Given the description of an element on the screen output the (x, y) to click on. 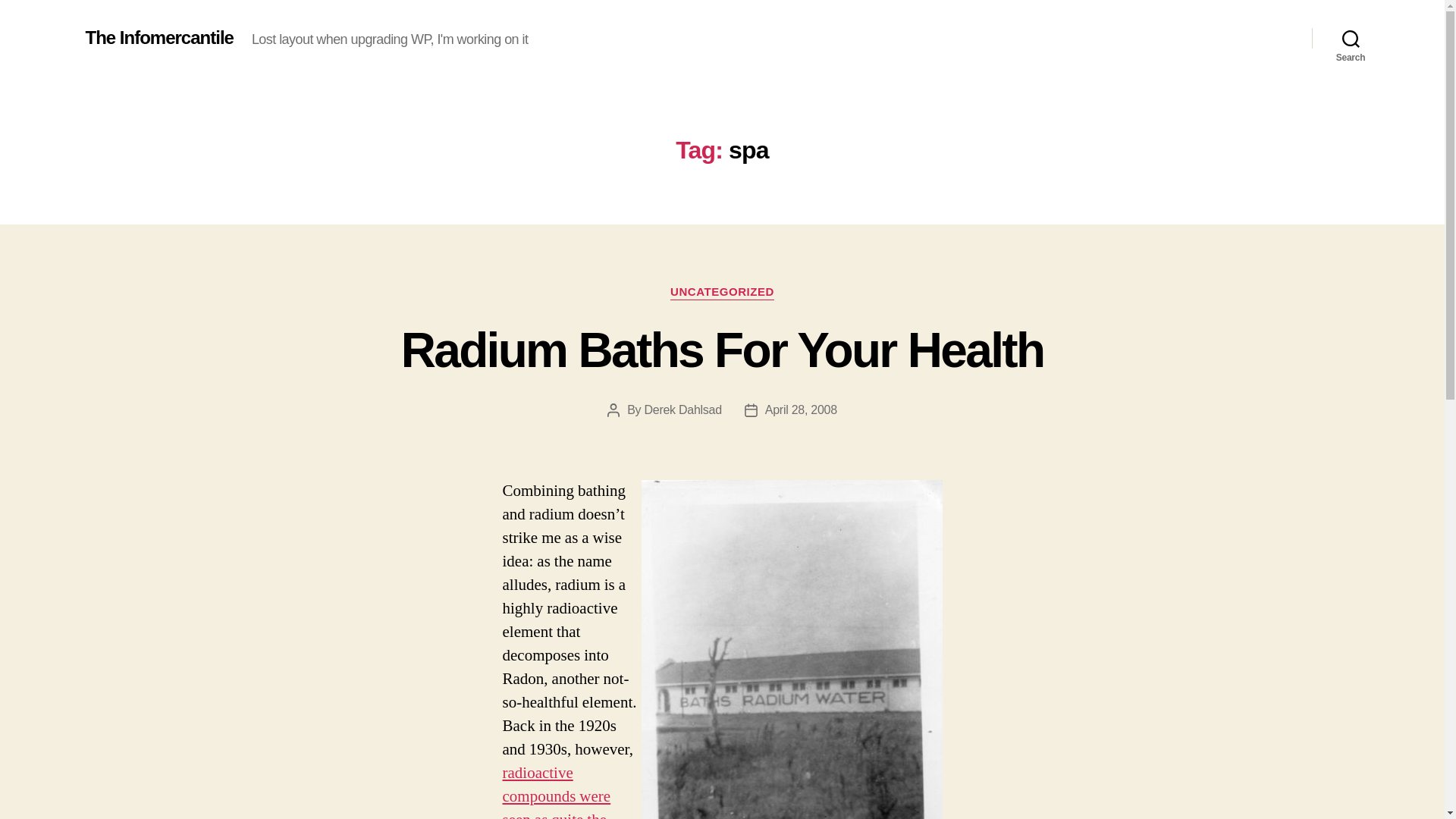
Search (1350, 37)
Radium Baths For Your Health (722, 349)
April 28, 2008 (801, 409)
Derek Dahlsad (683, 409)
The Infomercantile (158, 37)
UNCATEGORIZED (721, 292)
